Given the description of an element on the screen output the (x, y) to click on. 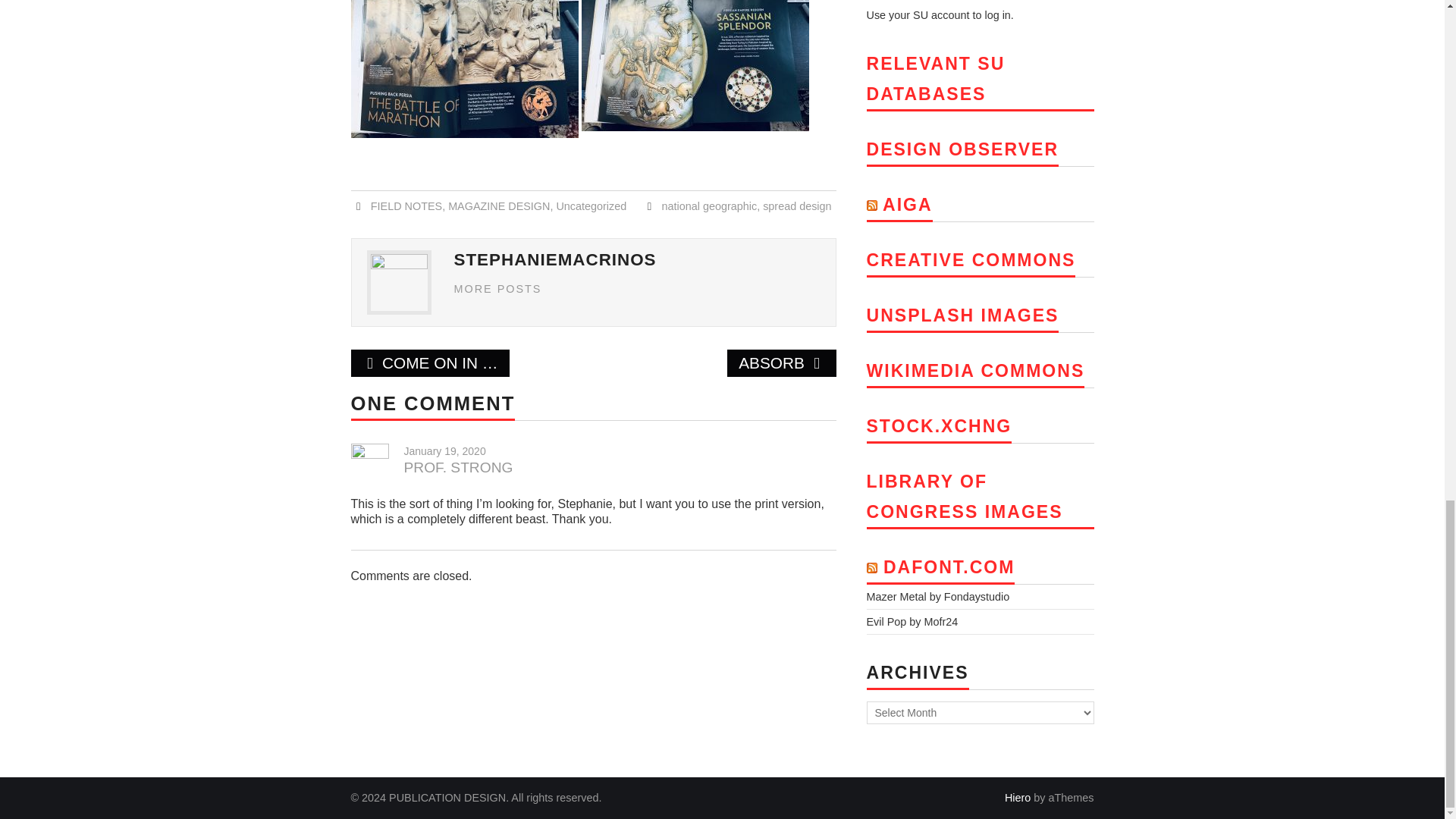
FIELD NOTES (406, 205)
MAGAZINE DESIGN (499, 205)
national geographic (709, 205)
spread design (796, 205)
ABSORB (780, 362)
Uncategorized (591, 205)
MORE POSTS (496, 288)
January 19, 2020 (443, 451)
